Given the description of an element on the screen output the (x, y) to click on. 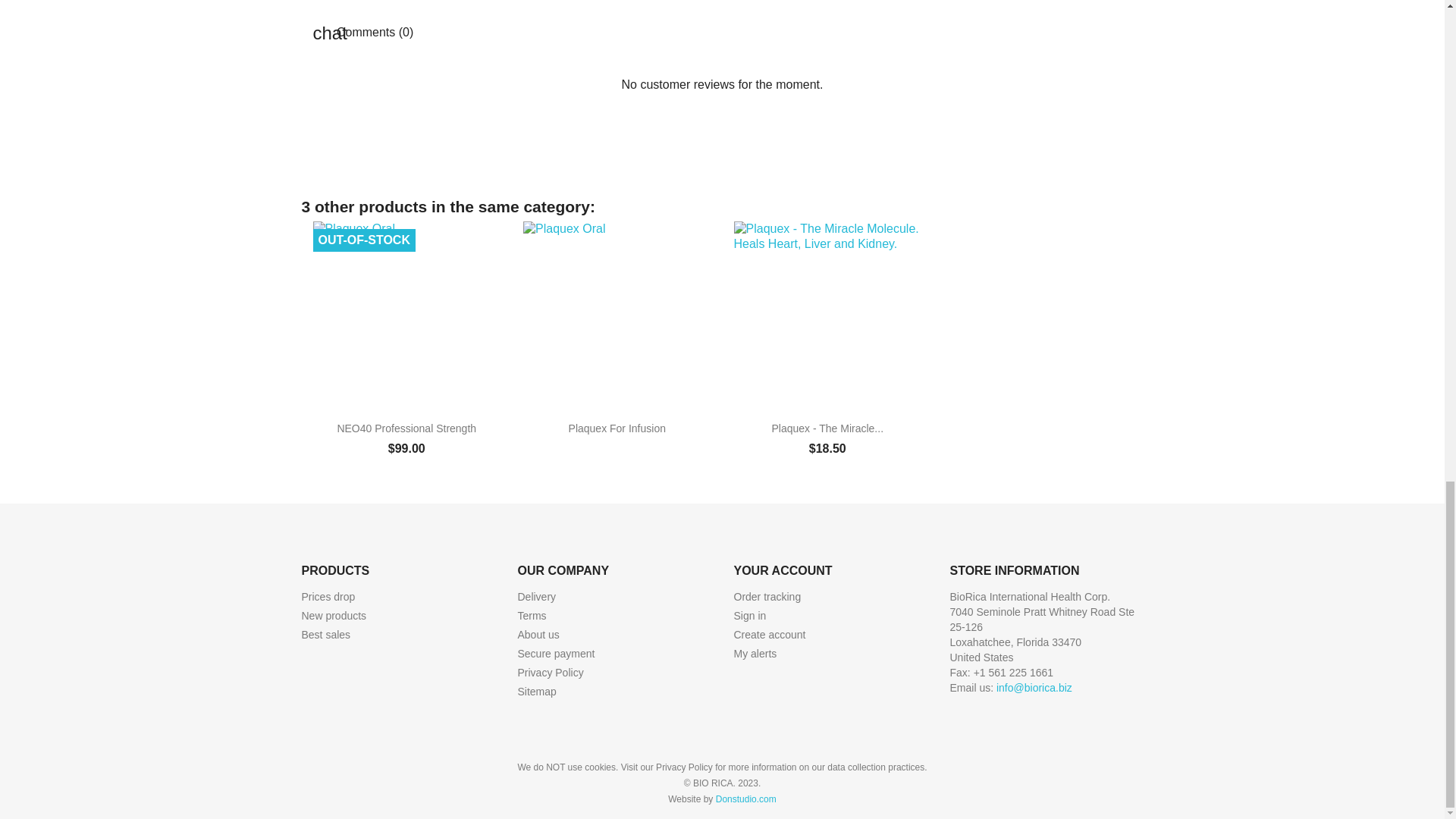
My alerts (755, 653)
Our new products (333, 615)
Learn more about us (537, 634)
Our special products (328, 596)
Our best sales (325, 634)
Create account (769, 634)
Lost ? Find what your are looking for (536, 691)
Our secure payment method (555, 653)
Order tracking (767, 596)
Our terms and conditions of delivery (536, 596)
Our terms and conditions of use (531, 615)
Log in to your customer account (750, 615)
